Given the description of an element on the screen output the (x, y) to click on. 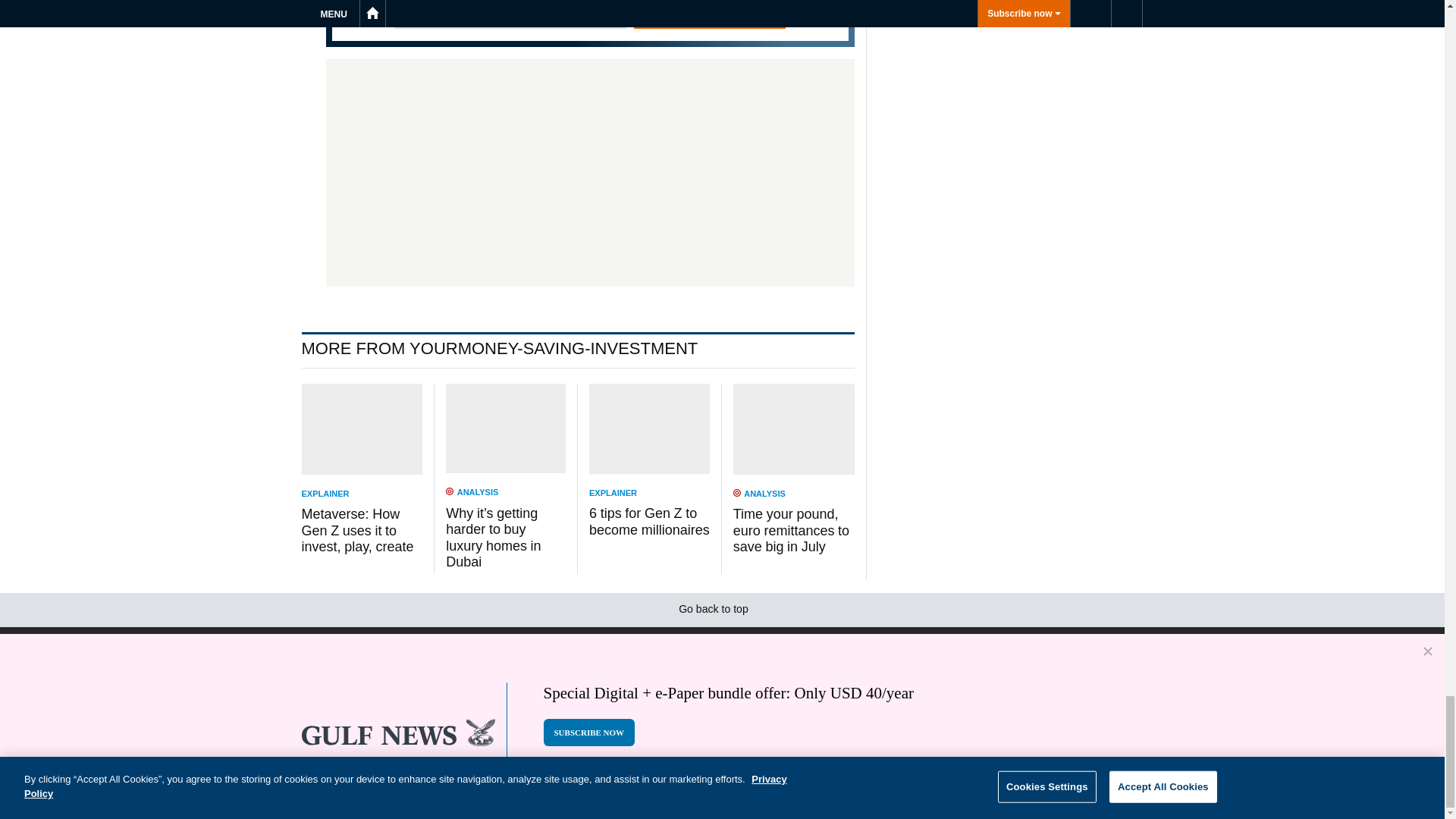
Sign up for the Daily Briefing (590, 23)
